Given the description of an element on the screen output the (x, y) to click on. 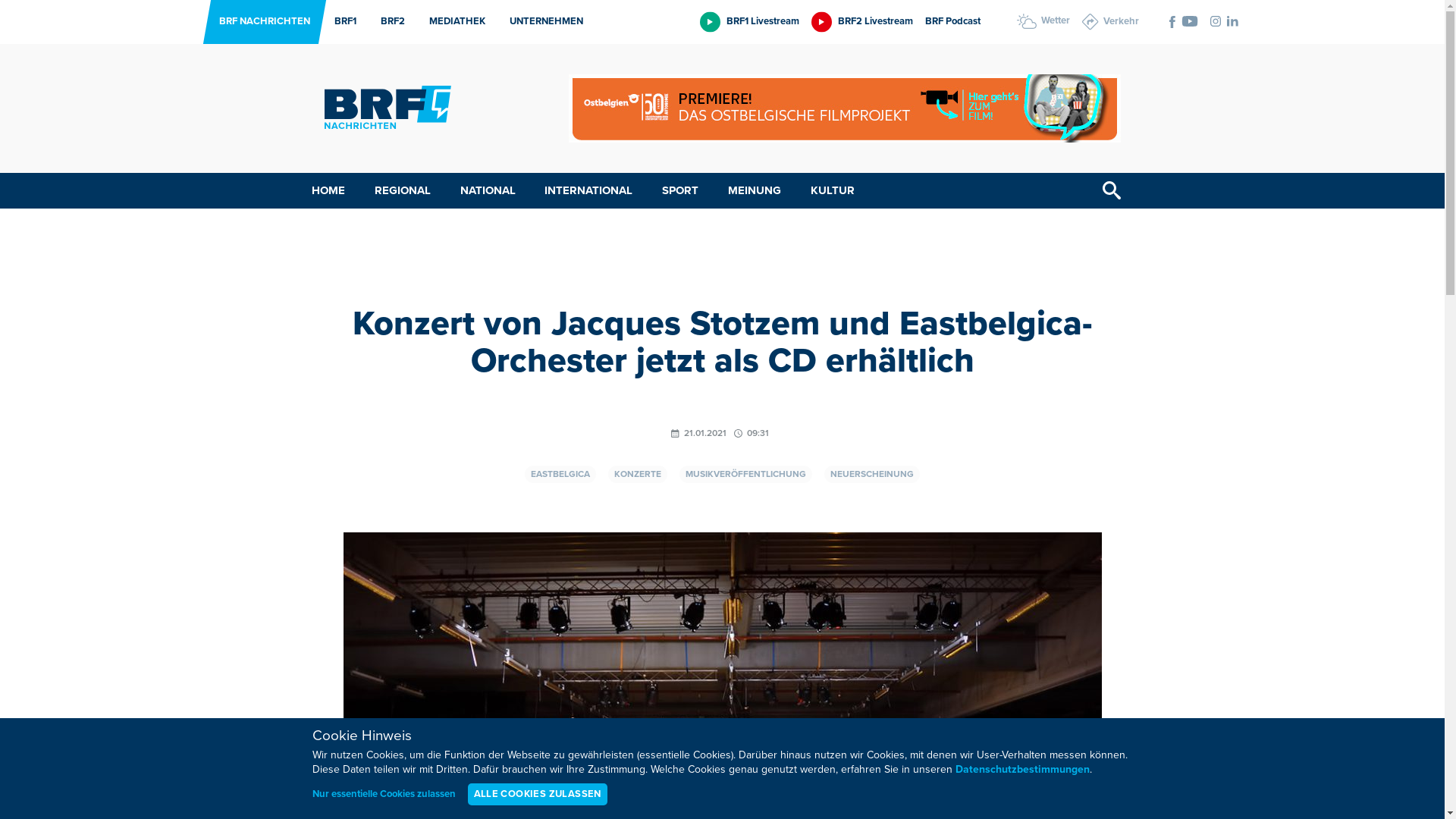
Nur essentielle Cookies zulassen Element type: text (383, 794)
Verkehr Element type: text (1109, 21)
Wetter Element type: text (1042, 20)
EASTBELGICA Element type: text (560, 474)
NATIONAL Element type: text (487, 190)
BRF2 Element type: text (388, 21)
BRF1 Element type: text (340, 21)
Nach oben Element type: text (1427, 777)
REGIONAL Element type: text (402, 190)
KONZERTE Element type: text (637, 474)
Suchen Element type: hover (1111, 190)
HOME Element type: text (328, 190)
MEINUNG Element type: text (754, 190)
UNTERNEHMEN Element type: text (541, 21)
BRF NACHRICHTEN Element type: text (259, 21)
Datenschutzbestimmungen Element type: text (1022, 769)
ALLE COOKIES ZULASSEN Element type: text (536, 794)
BRF1 Livestream Element type: text (748, 21)
MEDIATHEK Element type: text (452, 21)
BRF Podcast Element type: text (952, 21)
SPORT Element type: text (679, 190)
KULTUR Element type: text (832, 190)
INTERNATIONAL Element type: text (588, 190)
BRF2 Livestream Element type: text (862, 21)
NEUERSCHEINUNG Element type: text (871, 474)
